Given the description of an element on the screen output the (x, y) to click on. 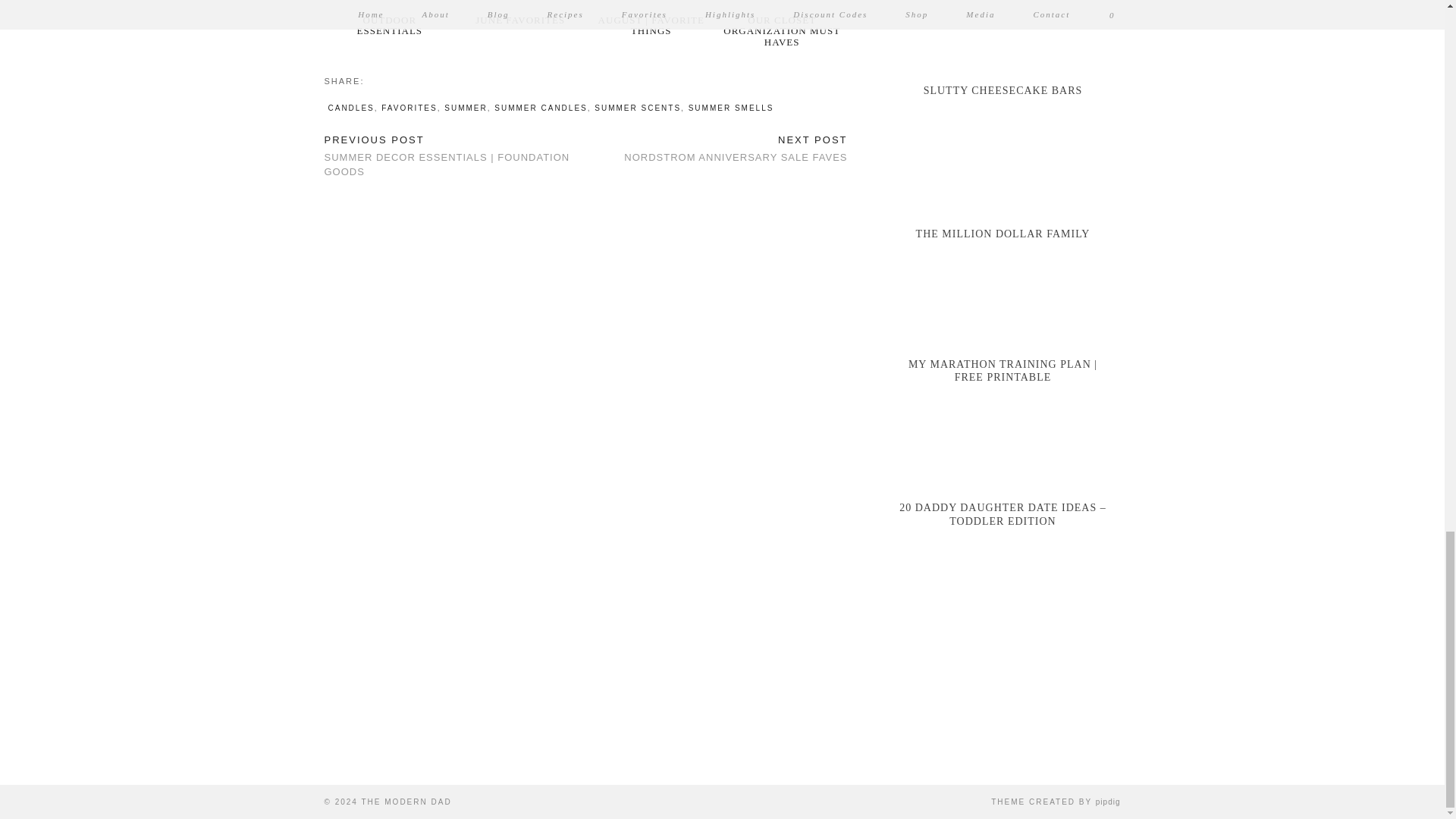
Share on Twitter (379, 80)
JUNE FAVORITES (520, 19)
SUMMER CANDLES (540, 108)
Our Closet Organization Must Haves (781, 5)
Share on Facebook (371, 80)
FAVORITES (408, 108)
Share on tumblr (394, 80)
SUMMER SMELLS (731, 108)
Share on Pinterest (387, 80)
SUMMER SCENTS (637, 108)
OUTDOOR ESSENTIALS (389, 25)
Our Closet Organization Must Haves (781, 30)
CANDLES (350, 108)
Outdoor Essentials (389, 5)
June Favorites (520, 5)
